Given the description of an element on the screen output the (x, y) to click on. 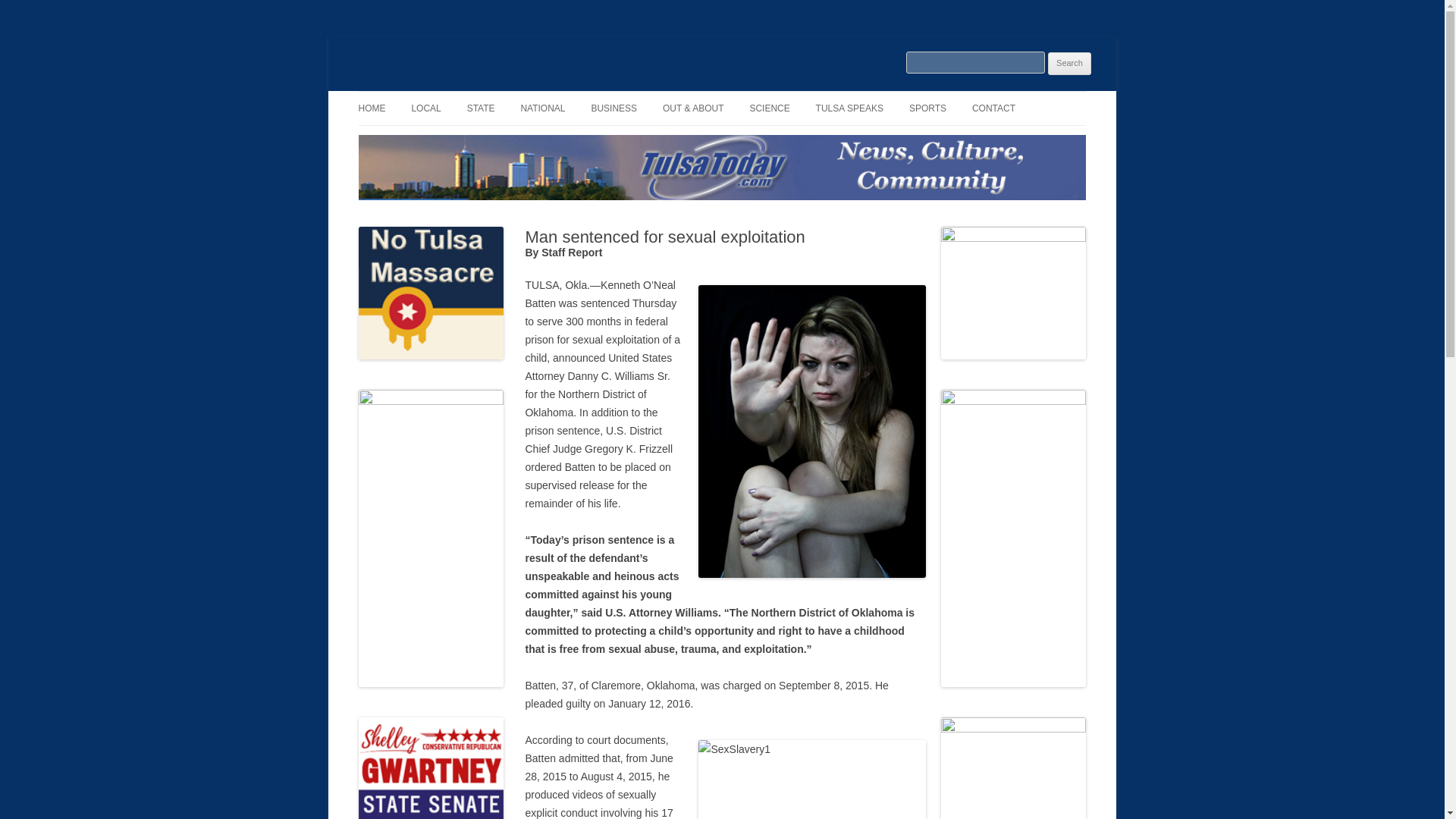
BUSINESS (614, 108)
SCIENCE (769, 108)
NATIONAL (541, 108)
Search (1069, 63)
Search (1069, 63)
CONTACT (993, 108)
TULSA SPEAKS (849, 108)
Skip to content (757, 95)
Skip to content (757, 95)
SPORTS (927, 108)
